Given the description of an element on the screen output the (x, y) to click on. 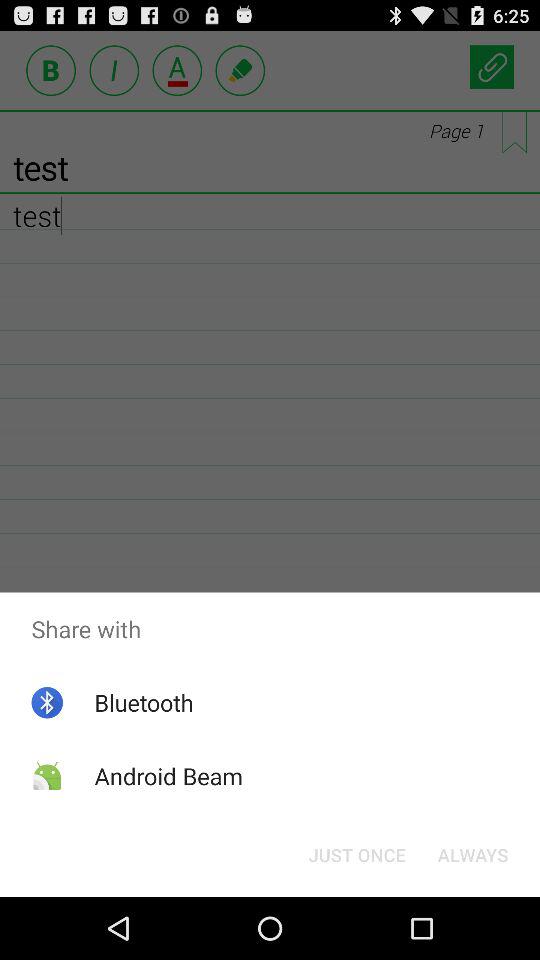
turn off bluetooth icon (143, 702)
